Given the description of an element on the screen output the (x, y) to click on. 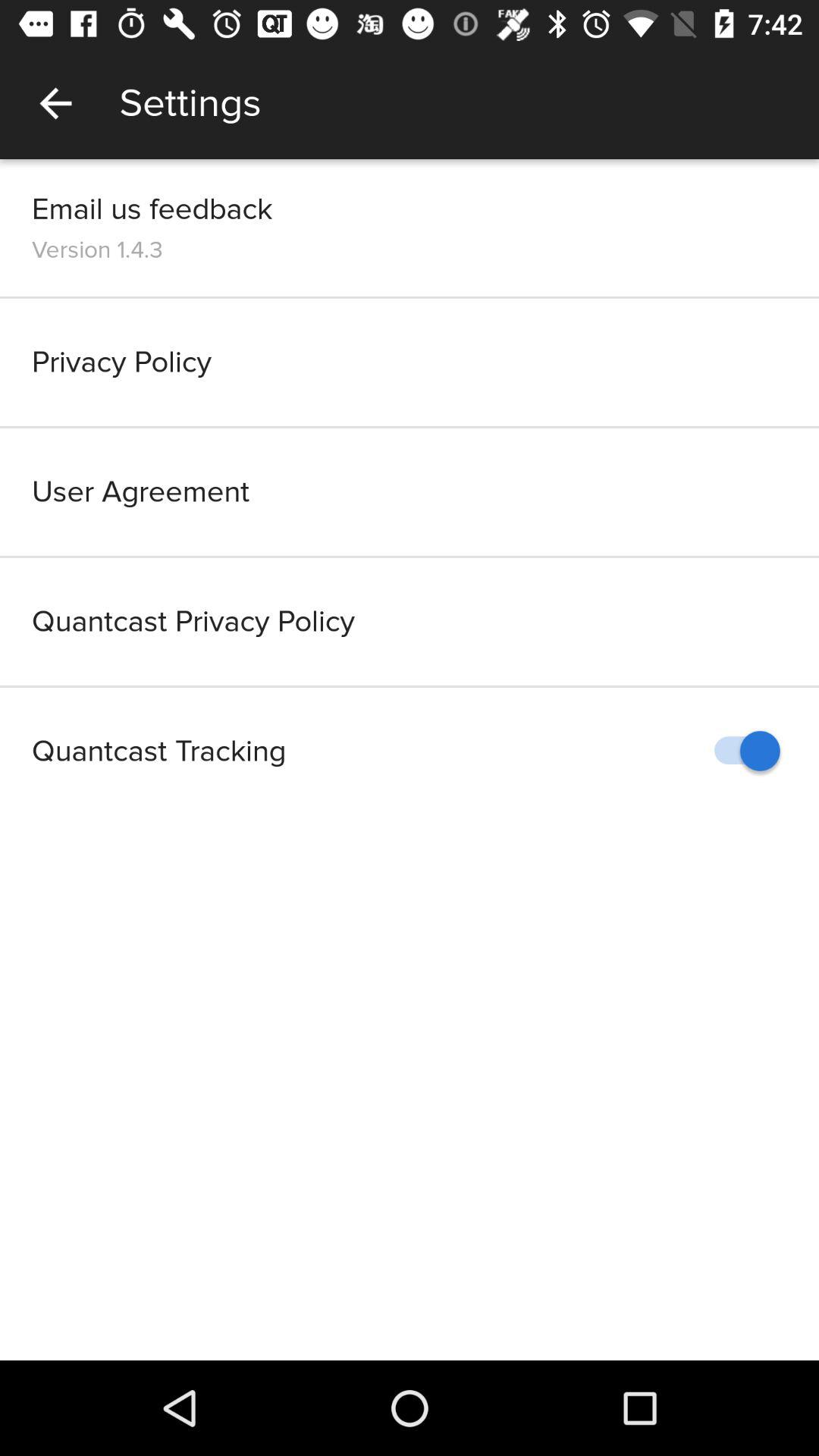
press the icon to the right of quantcast tracking (739, 751)
